Given the description of an element on the screen output the (x, y) to click on. 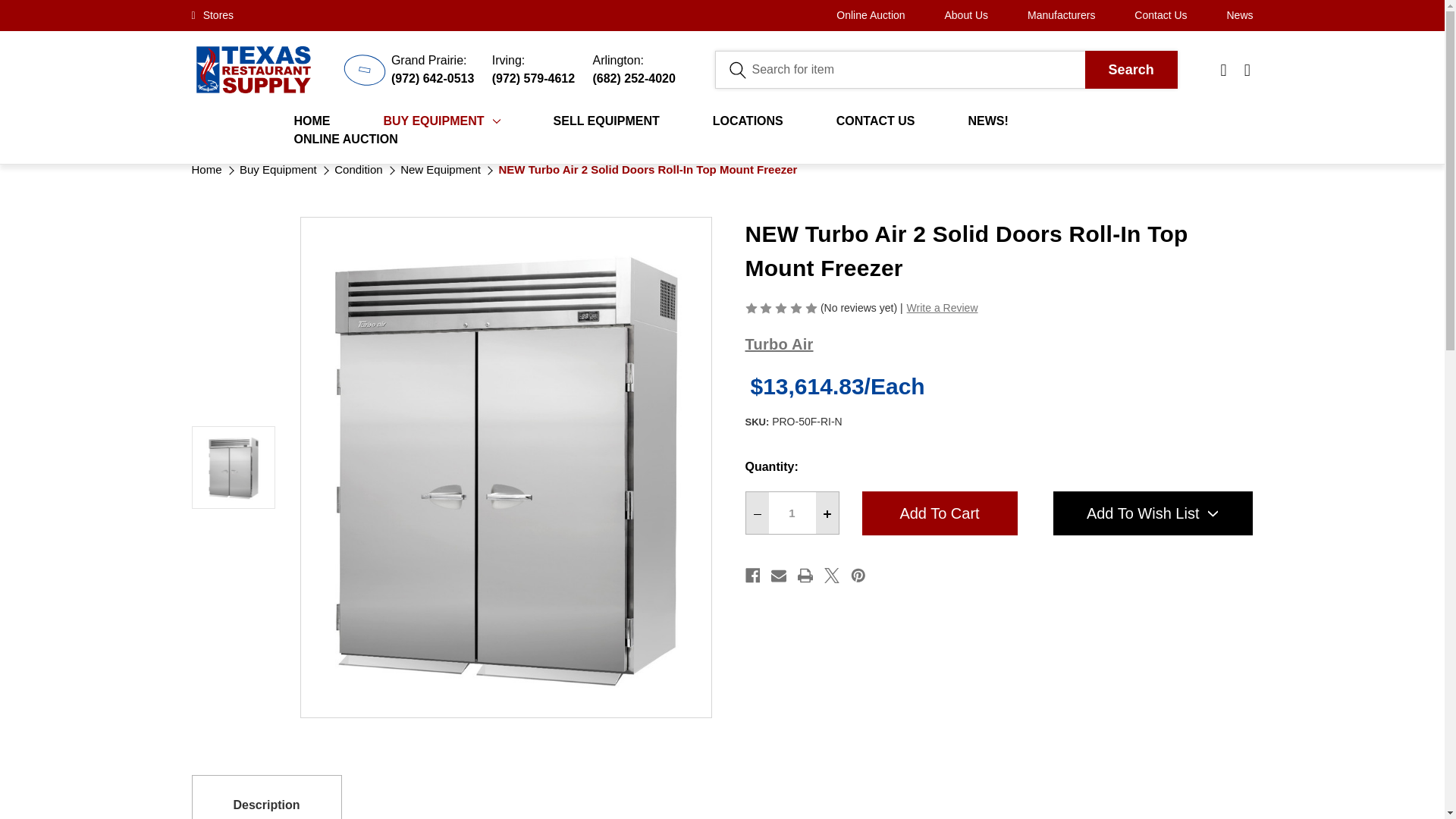
ONLINE AUCTION (345, 139)
Online Auction (869, 15)
Facebook (752, 575)
texasrestaurantsupply (252, 69)
Search (1130, 69)
pro-50f-ri-n (233, 465)
Add to Cart (938, 513)
BUY EQUIPMENT (442, 121)
Condition (357, 170)
Search (1130, 69)
LOCATIONS (748, 121)
CART (1248, 69)
Contact Us (1160, 15)
Print (804, 575)
